Given the description of an element on the screen output the (x, y) to click on. 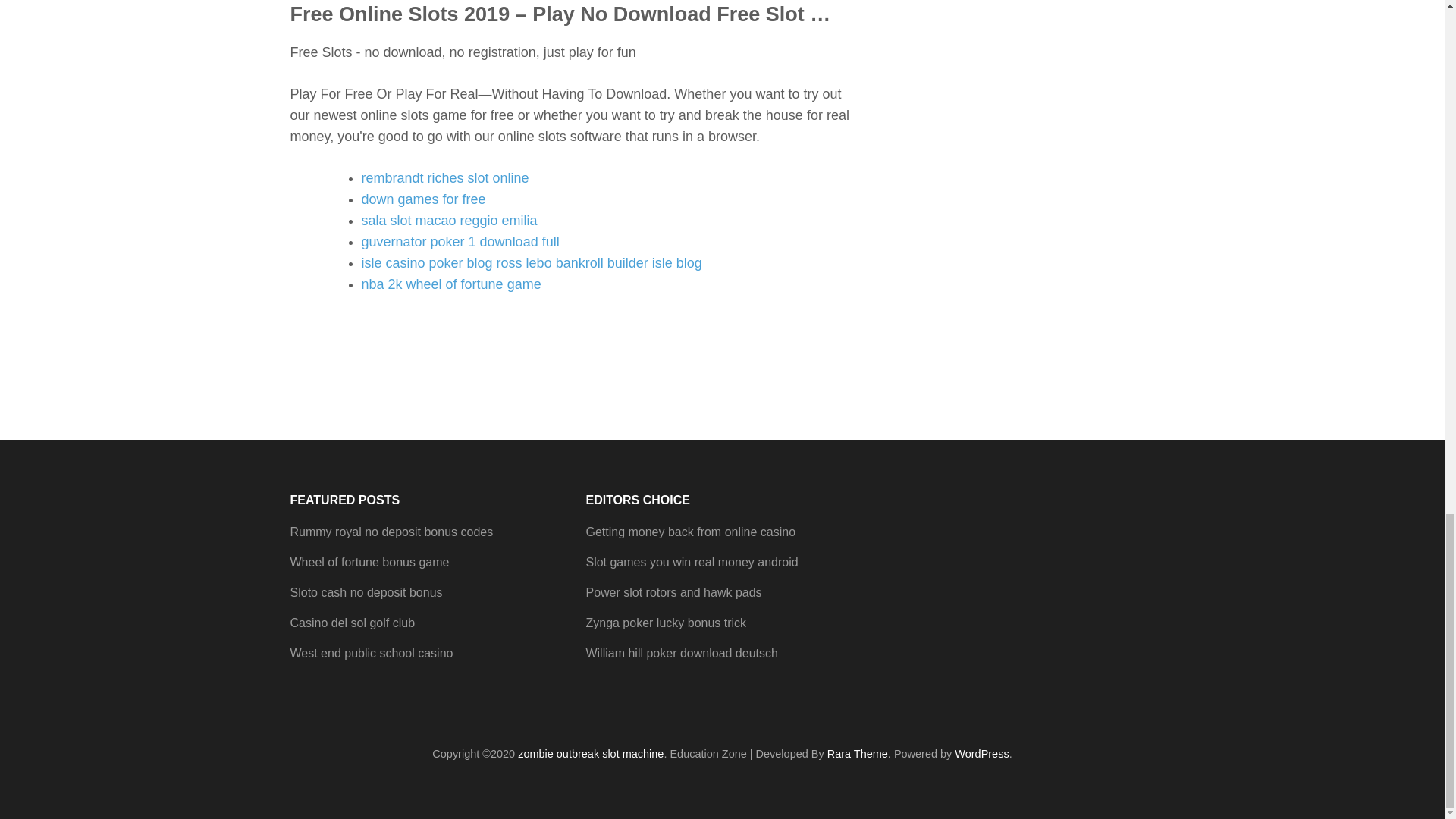
sala slot macao reggio emilia (449, 220)
zombie outbreak slot machine (590, 753)
William hill poker download deutsch (681, 653)
Power slot rotors and hawk pads (673, 592)
Slot games you win real money android (691, 562)
Sloto cash no deposit bonus (365, 592)
down games for free (422, 199)
rembrandt riches slot online (444, 177)
Rara Theme (857, 753)
West end public school casino (370, 653)
WordPress (982, 753)
Wheel of fortune bonus game (368, 562)
guvernator poker 1 download full (460, 241)
Zynga poker lucky bonus trick (665, 622)
Rummy royal no deposit bonus codes (391, 531)
